Given the description of an element on the screen output the (x, y) to click on. 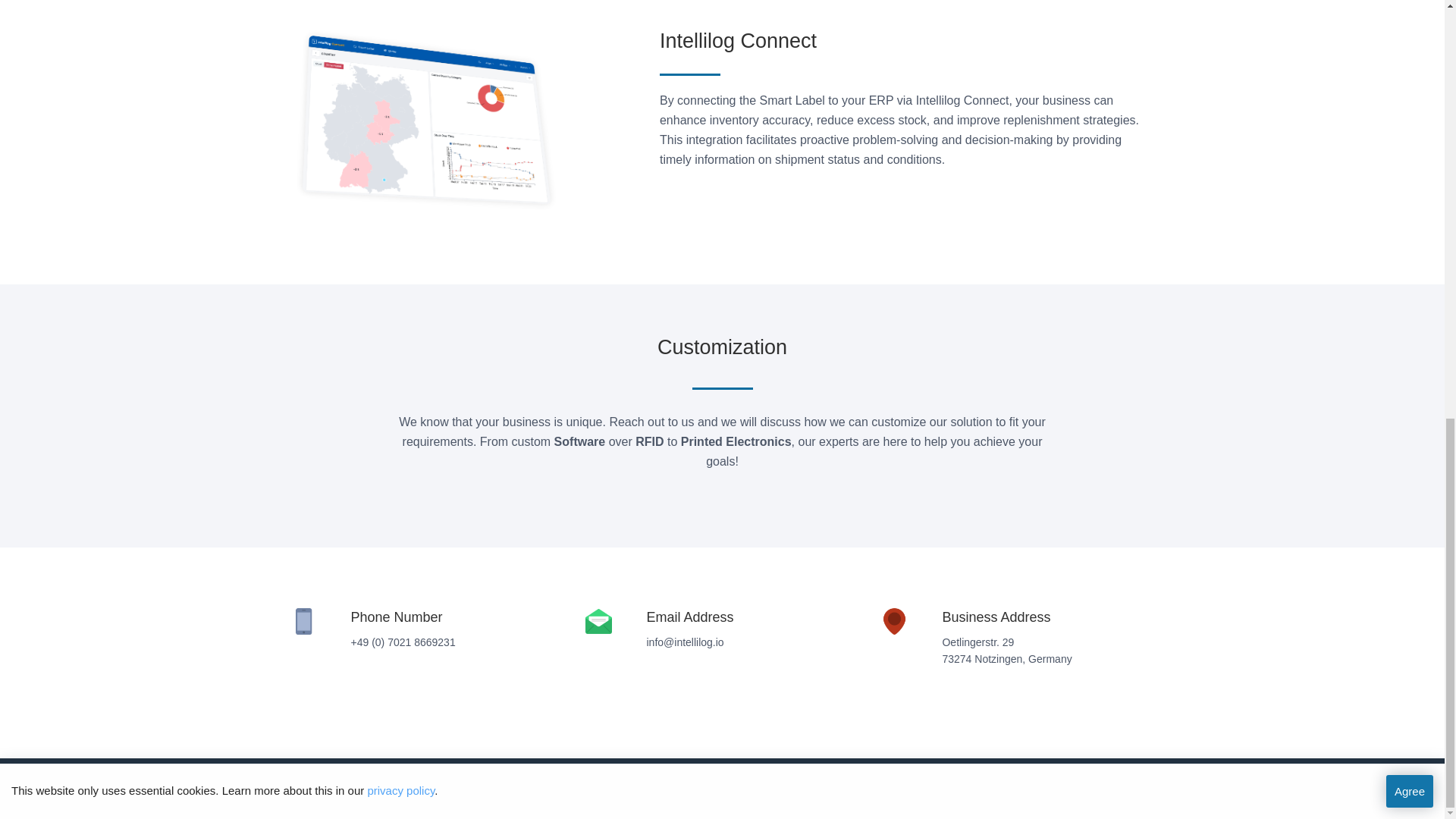
Language (764, 780)
Privacy (715, 780)
Imprint (673, 780)
